Given the description of an element on the screen output the (x, y) to click on. 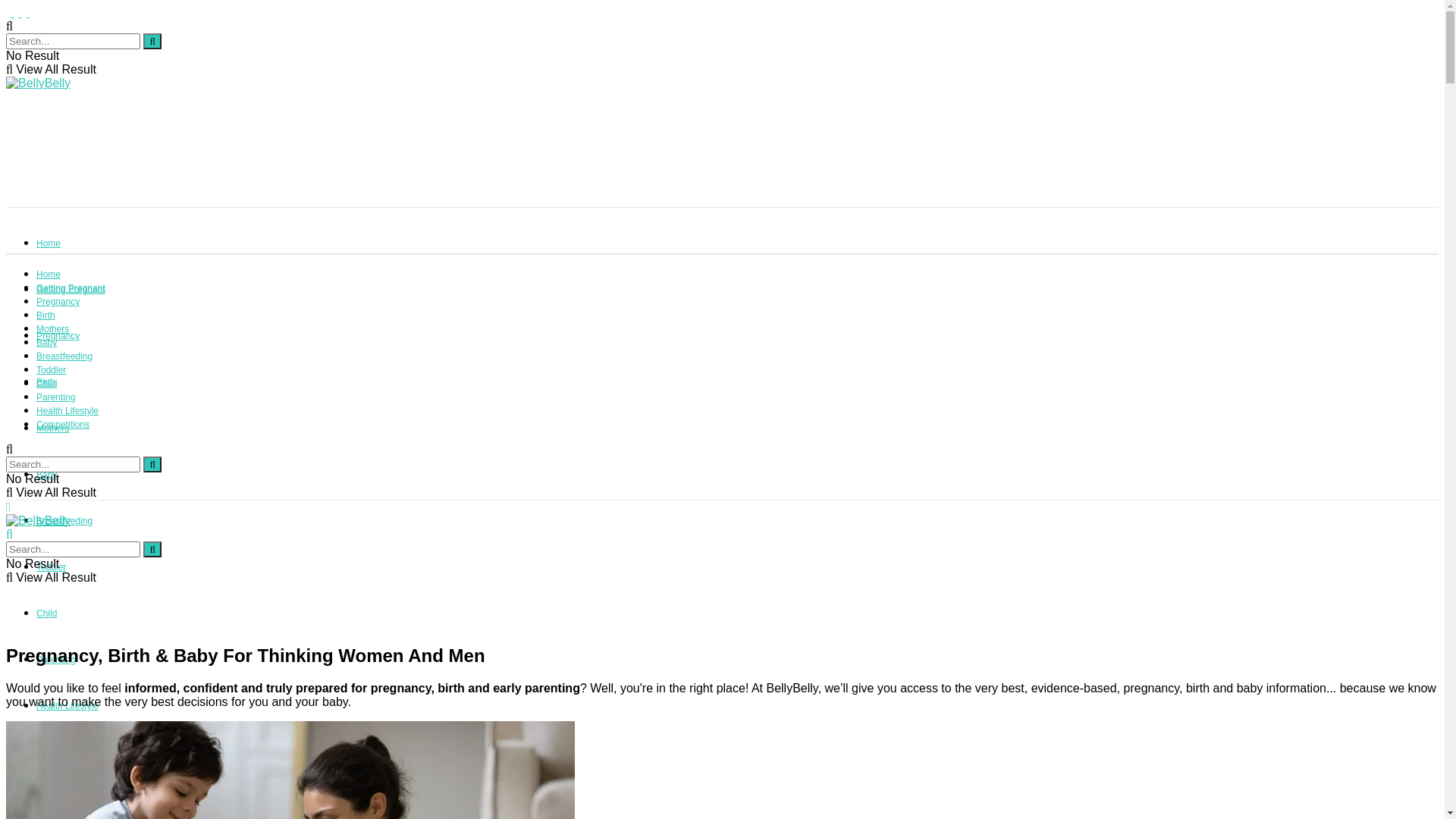
Health Lifestyle Element type: text (67, 410)
Baby Element type: text (46, 342)
Child Element type: text (46, 613)
Birth Element type: text (45, 381)
Breastfeeding Element type: text (64, 520)
Home Element type: text (48, 243)
Competitions Element type: text (62, 751)
Baby Element type: text (46, 474)
Home Element type: text (48, 274)
Parenting Element type: text (55, 659)
Getting Pregnant Element type: text (70, 289)
Getting Pregnant Element type: text (70, 287)
Competitions Element type: text (62, 424)
Parenting Element type: text (55, 397)
Toddler Element type: text (50, 566)
Birth Element type: text (45, 315)
Pregnancy Element type: text (57, 335)
Child Element type: text (46, 383)
Health Lifestyle Element type: text (67, 705)
Mothers Element type: text (52, 428)
Breastfeeding Element type: text (64, 356)
Pregnancy Element type: text (57, 301)
Toddler Element type: text (50, 369)
Mothers Element type: text (52, 328)
